Given the description of an element on the screen output the (x, y) to click on. 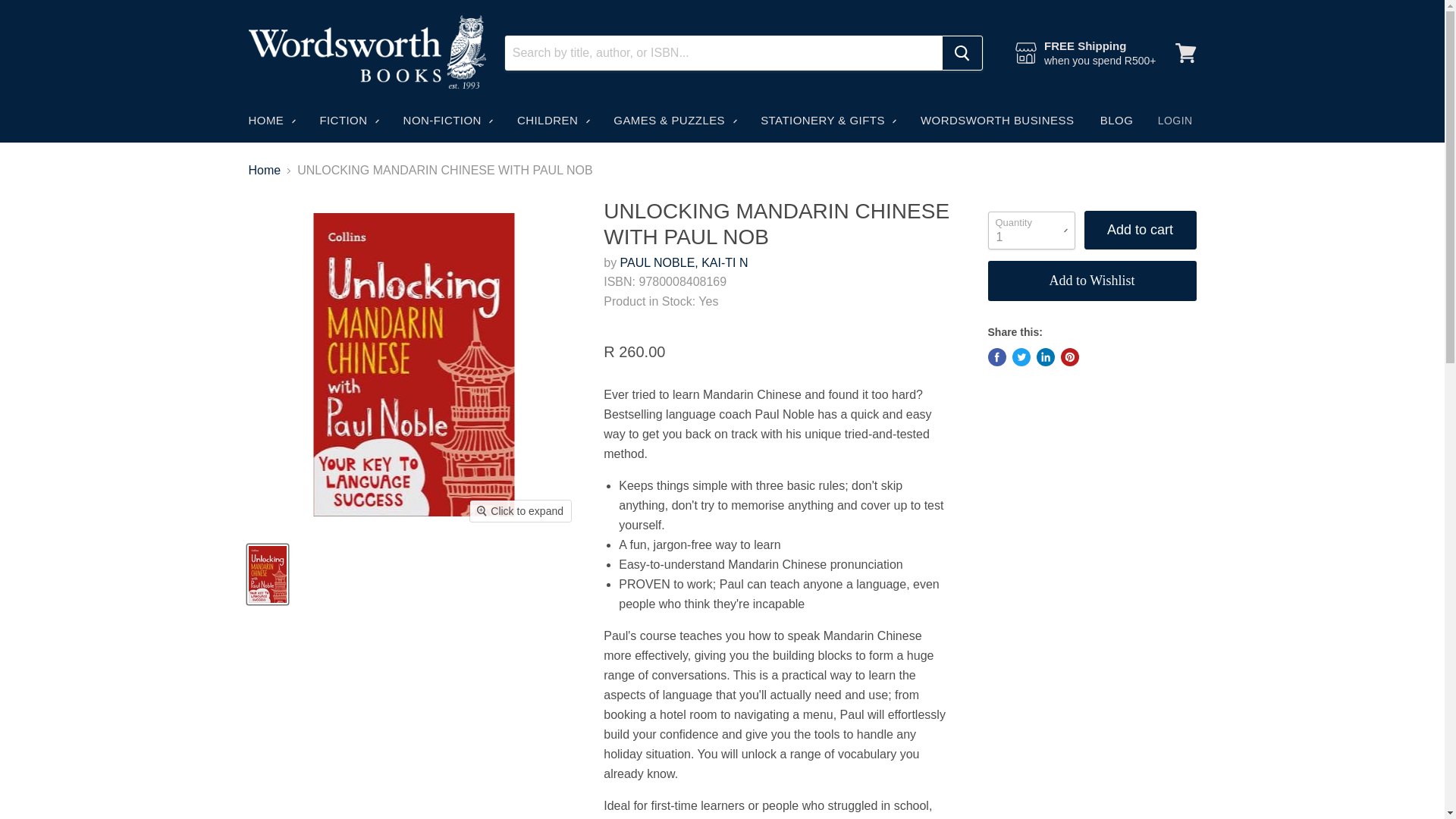
HOME (269, 120)
View cart (1185, 53)
PAUL NOBLE, KAI-TI N (684, 262)
FICTION (347, 120)
